Given the description of an element on the screen output the (x, y) to click on. 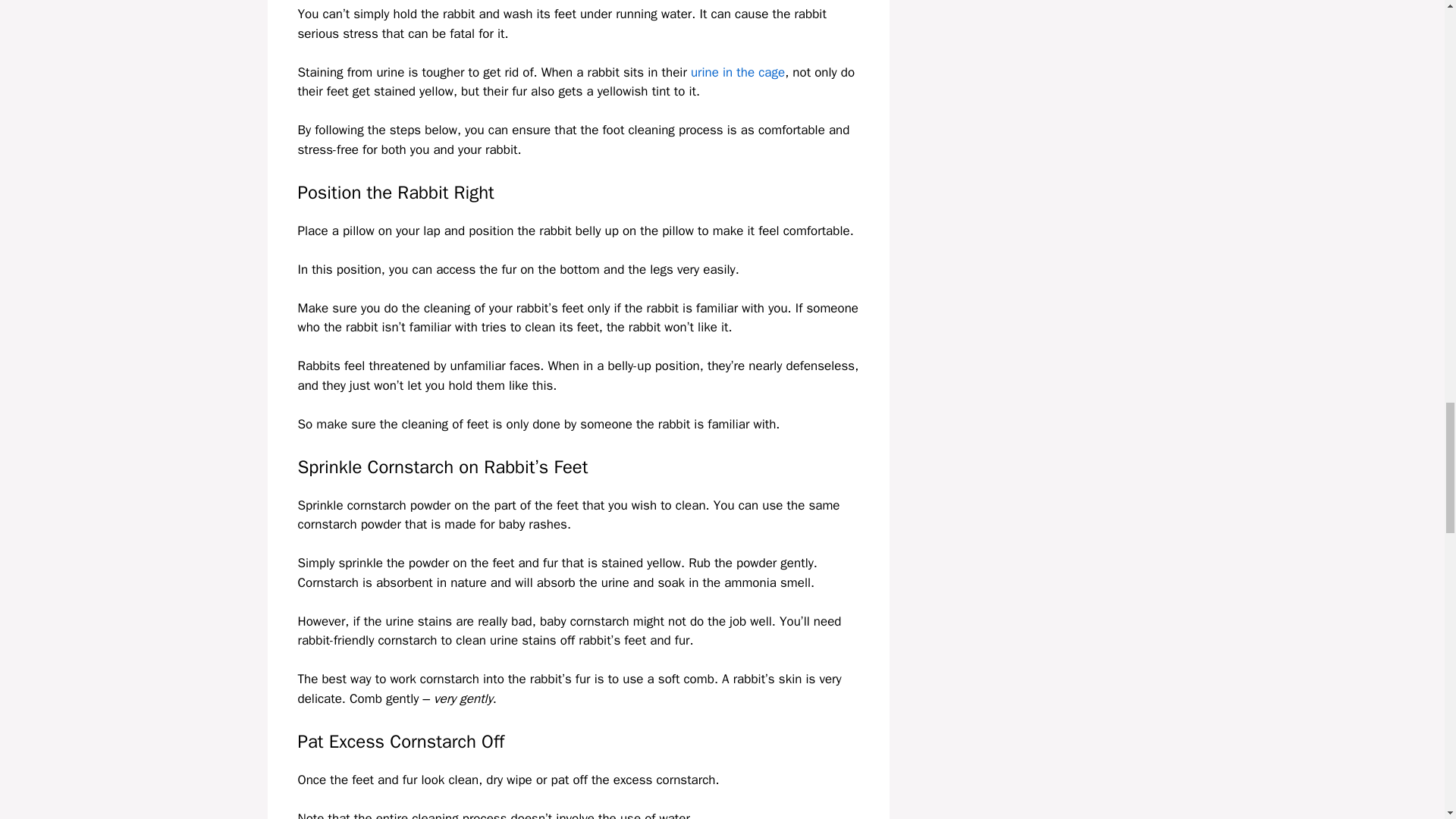
urine in the cage (737, 72)
